Given the description of an element on the screen output the (x, y) to click on. 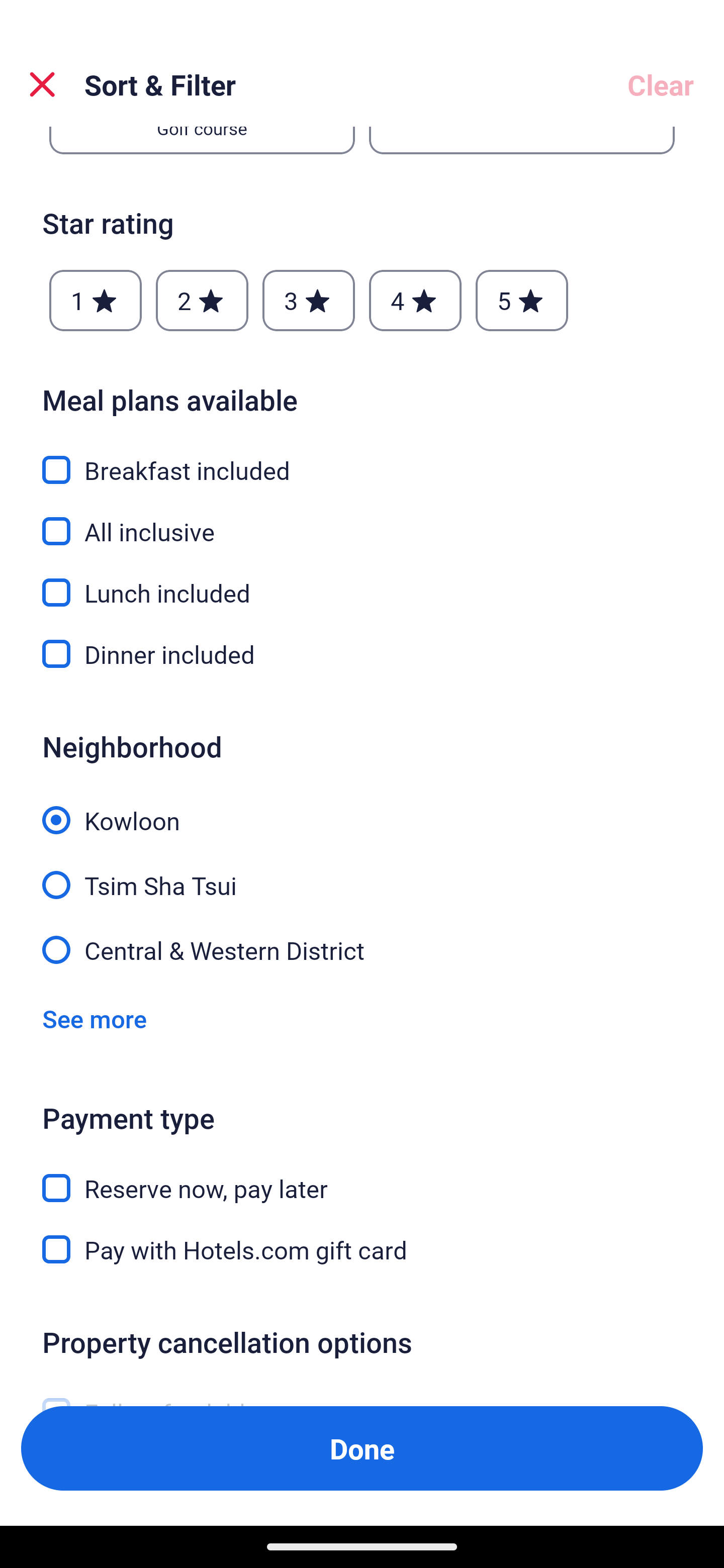
Close Sort and Filter (42, 84)
Clear (660, 84)
1 (95, 300)
2 (201, 300)
3 (308, 300)
4 (415, 300)
5 (521, 300)
Breakfast included, Breakfast included (361, 458)
All inclusive, All inclusive (361, 519)
Lunch included, Lunch included (361, 580)
Dinner included, Dinner included (361, 653)
Tsim Sha Tsui (361, 874)
Central & Western District (361, 948)
See more See more neighborhoods Link (93, 1018)
Reserve now, pay later, Reserve now, pay later (361, 1176)
Apply and close Sort and Filter Done (361, 1448)
